Given the description of an element on the screen output the (x, y) to click on. 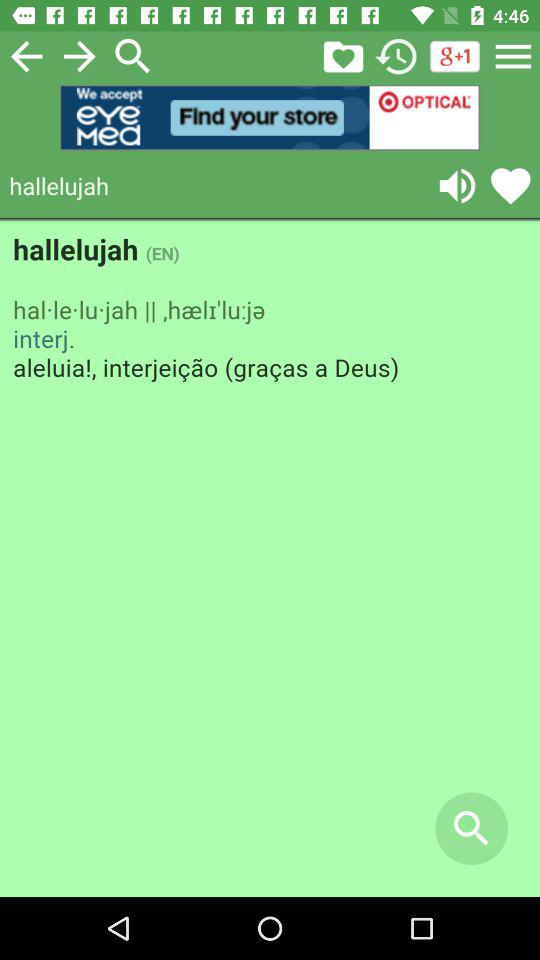
add to favourites (343, 56)
